Given the description of an element on the screen output the (x, y) to click on. 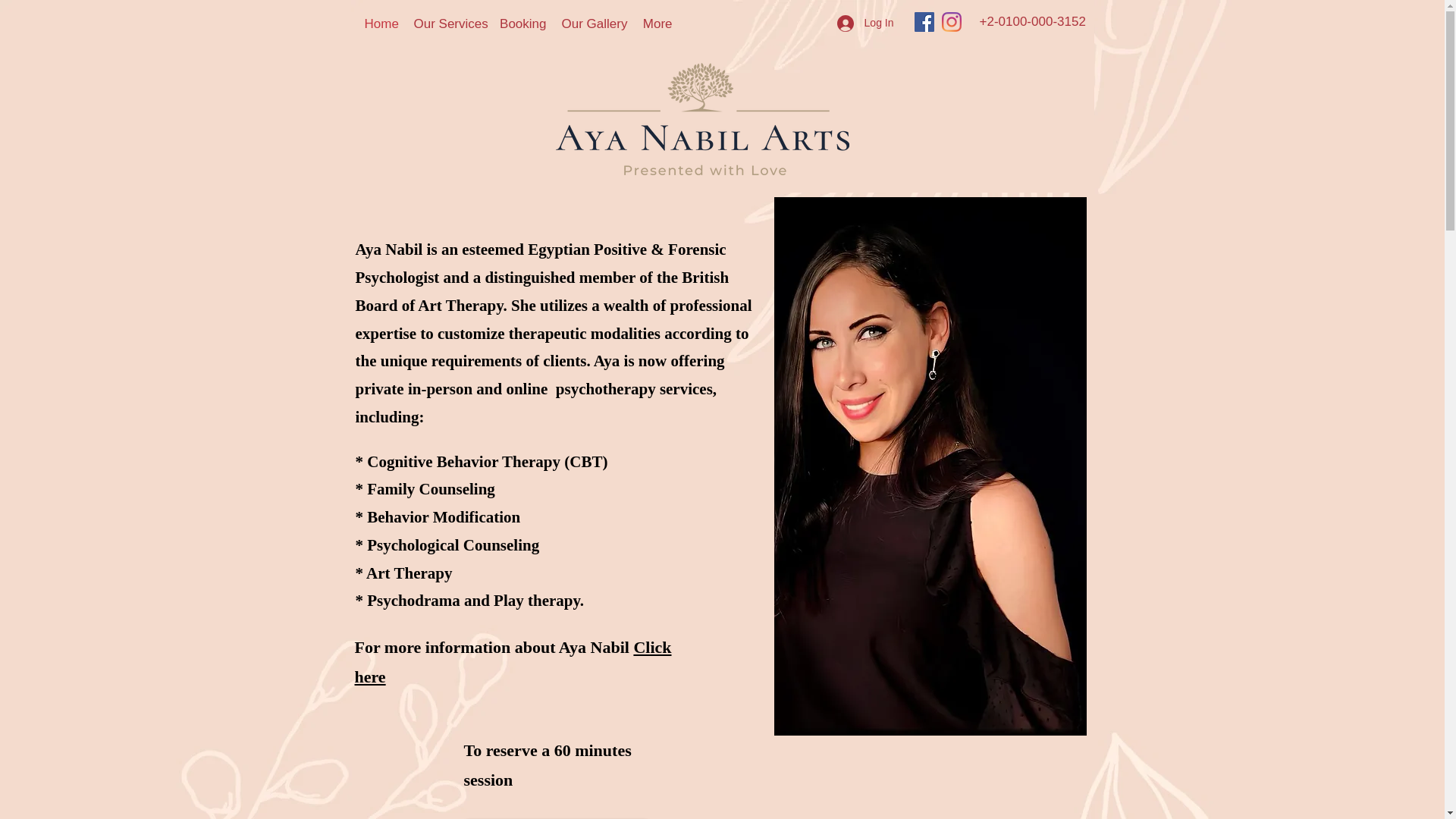
Our Gallery (593, 24)
Click here (513, 662)
Our Services (449, 24)
Booking (522, 24)
Log In (865, 22)
Home (381, 24)
